Given the description of an element on the screen output the (x, y) to click on. 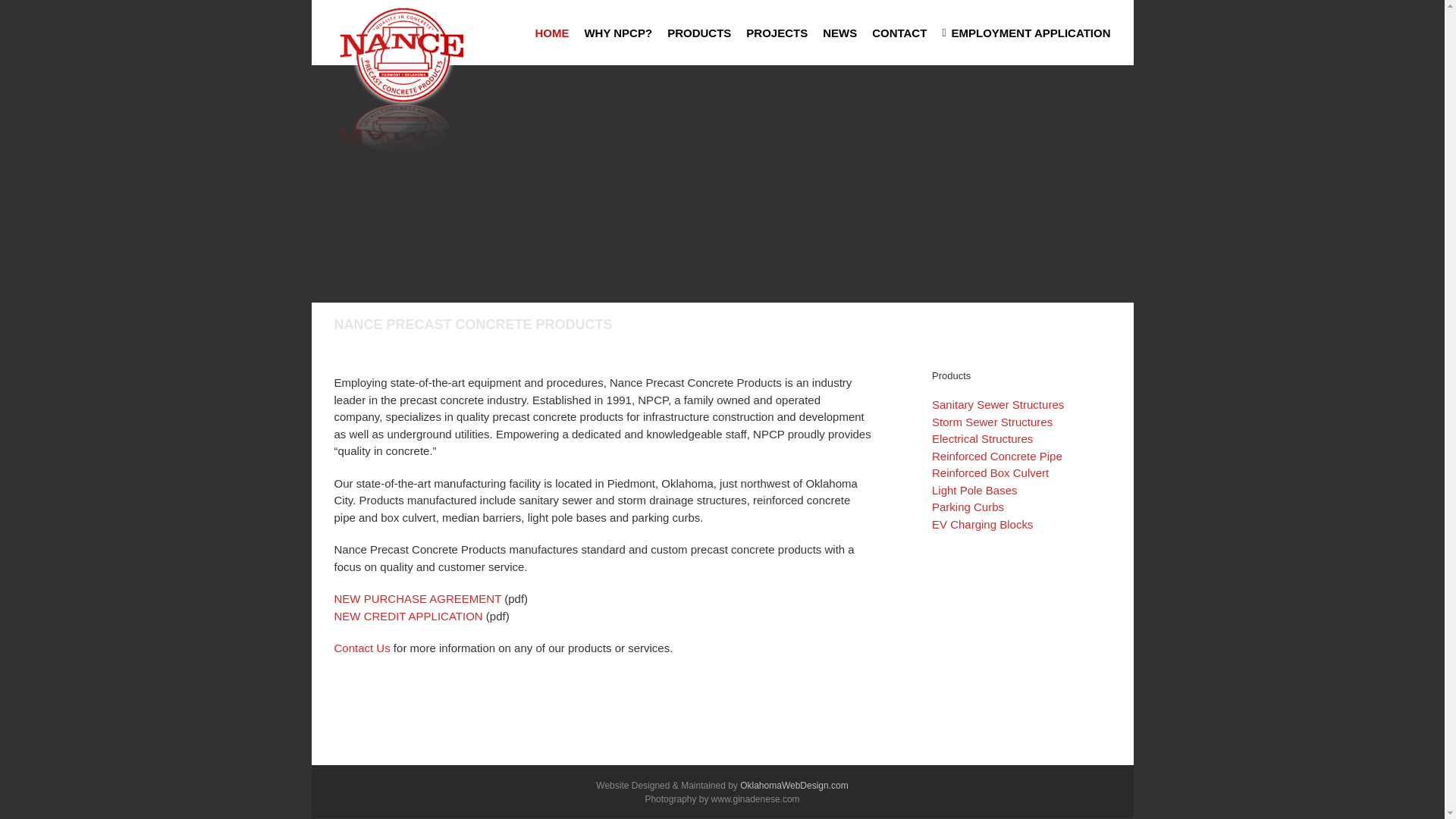
Electrical Structures (981, 438)
PRODUCTS (698, 32)
NEW CREDIT APPLICATION (407, 615)
EV Charging Blocks (981, 523)
Light Pole Bases (974, 490)
Reinforced Concrete Pipe (996, 455)
WHY NPCP? (617, 32)
Contact Us (361, 647)
EMPLOYMENT APPLICATION (1025, 32)
Reinforced Box Culvert (989, 472)
NEW PURCHASE AGREEMENT (416, 598)
Sanitary Sewer Structures (997, 404)
OklahomaWebDesign.com (793, 785)
Storm Sewer Structures (991, 421)
PROJECTS (776, 32)
